Given the description of an element on the screen output the (x, y) to click on. 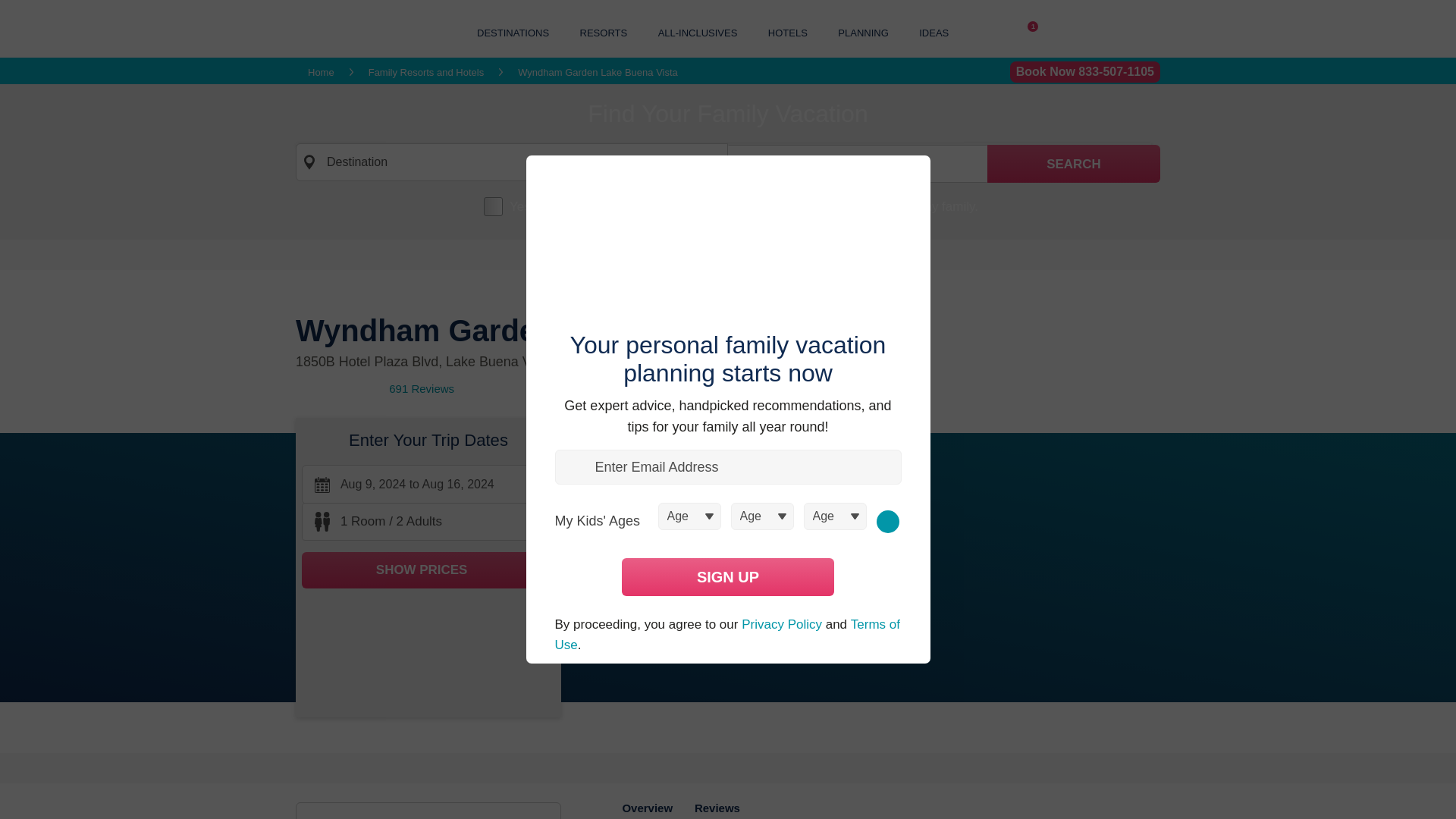
SHOW PRICES (427, 570)
691 Reviews (421, 388)
DESTINATIONS (512, 32)
PLANNING (863, 32)
Visit Family Vacation Critic on Twitter! (969, 32)
HOTELS (1028, 32)
Search (788, 32)
RESORTS (1073, 163)
ALL-INCLUSIVES (603, 32)
Visit Family Vacation Critic on Facebook! (698, 32)
Home (944, 32)
Book Now 833-507-1105 (320, 71)
Search (1085, 71)
IDEAS (1073, 163)
